Given the description of an element on the screen output the (x, y) to click on. 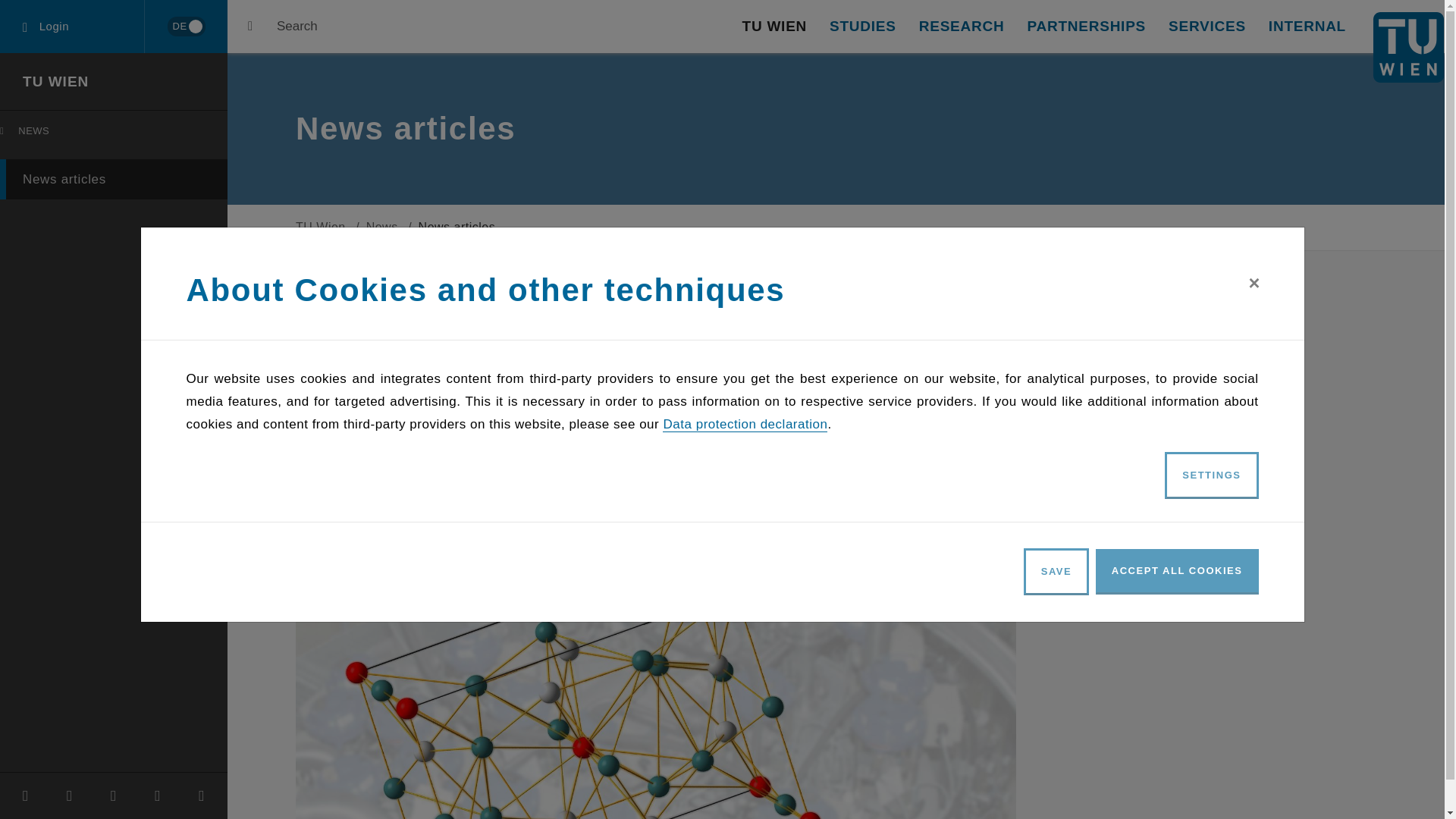
News articles (113, 178)
TU Wien - homepage (1408, 47)
Login (117, 134)
STUDIES (72, 26)
DE (862, 26)
Wechseln zu Deutsch (185, 26)
Search (186, 26)
TU WIEN (282, 26)
TU WIEN (774, 26)
